Given the description of an element on the screen output the (x, y) to click on. 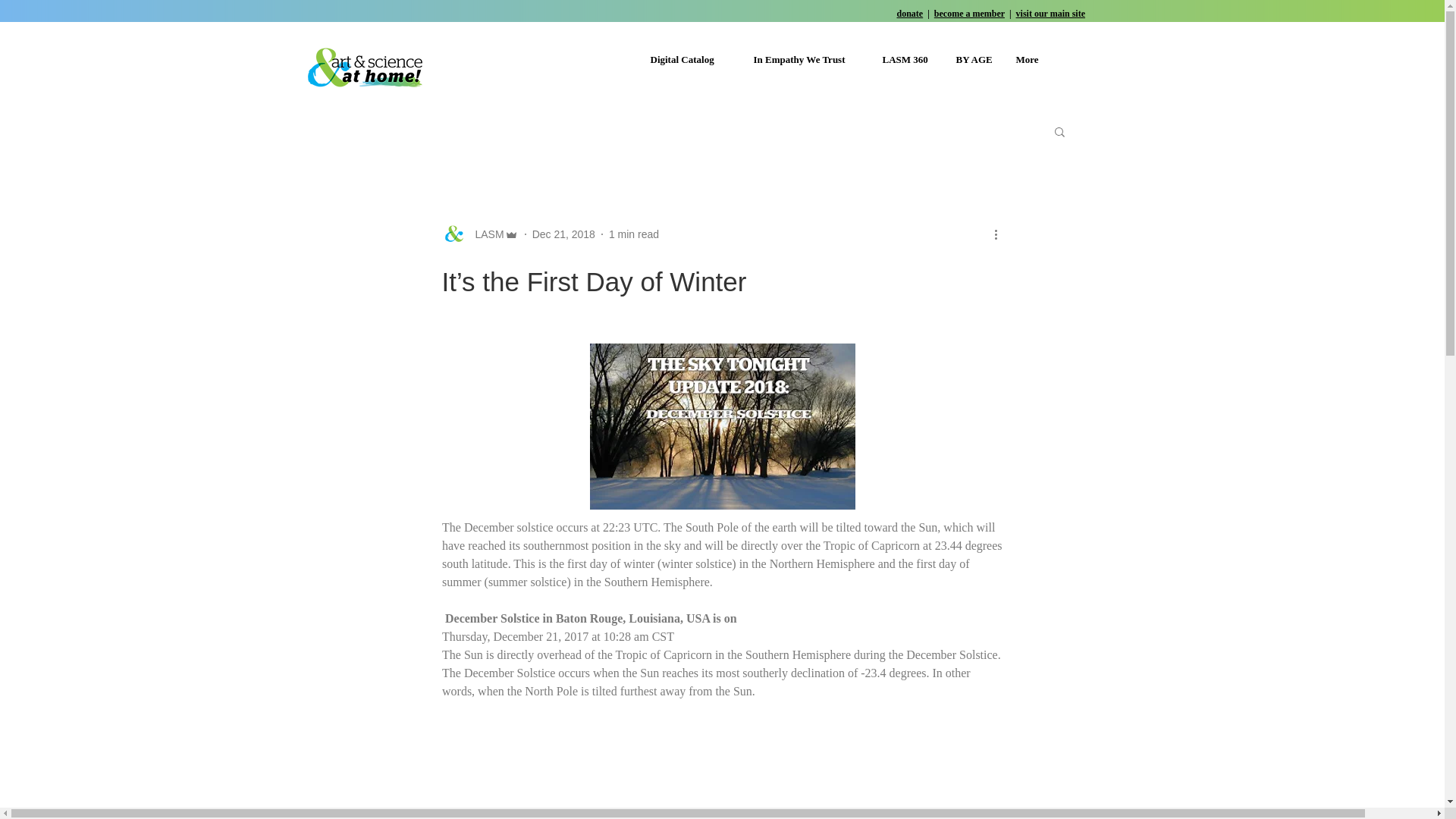
LASM (479, 233)
Digital Catalog (690, 59)
LASM 360 (906, 59)
visit our main site (1050, 13)
In Empathy We Trust (805, 59)
Dec 21, 2018 (563, 233)
LASM (484, 233)
BY AGE (974, 59)
1 min read (633, 233)
donate (909, 13)
